Given the description of an element on the screen output the (x, y) to click on. 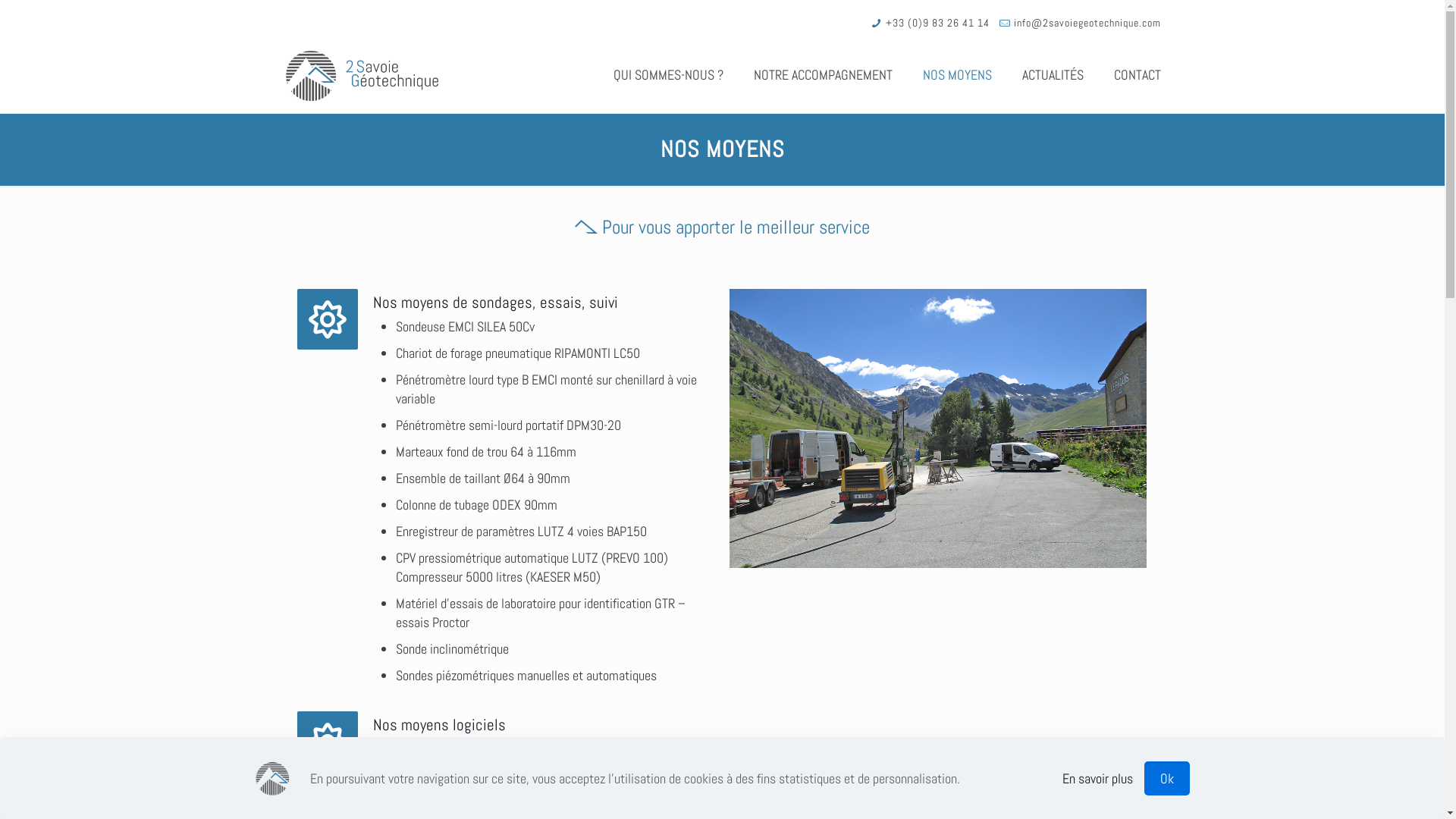
CONTACT Element type: text (1136, 74)
NOS MOYENS Element type: text (956, 74)
QUI SOMMES-NOUS ? Element type: text (667, 74)
Ok Element type: text (1166, 778)
NOTRE ACCOMPAGNEMENT Element type: text (822, 74)
+33 (0)9 83 26 41 14 Element type: text (937, 22)
En savoir plus Element type: text (1097, 777)
info@2savoiegeotechnique.com Element type: text (1086, 22)
